Given the description of an element on the screen output the (x, y) to click on. 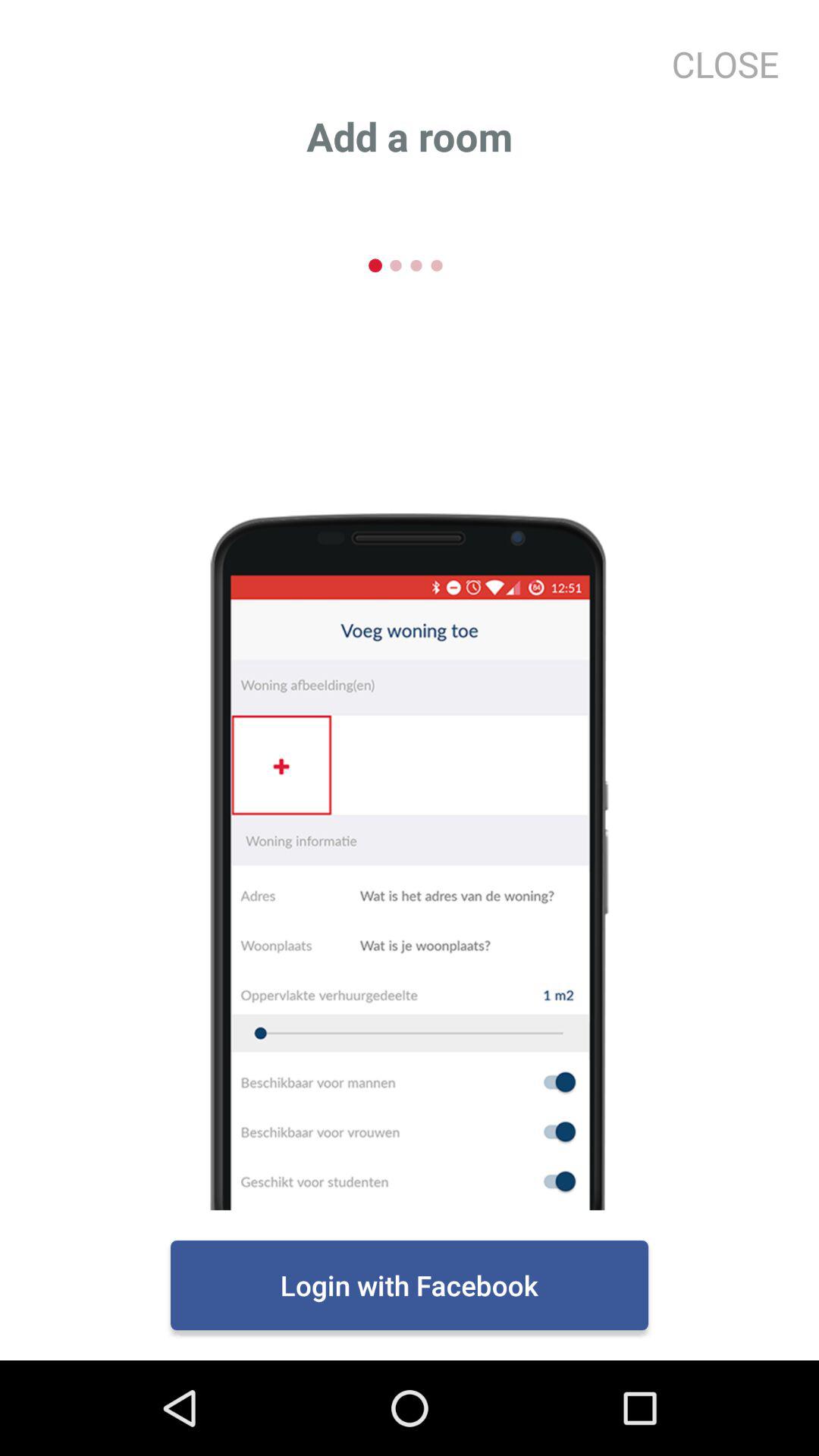
turn off close (719, 63)
